Given the description of an element on the screen output the (x, y) to click on. 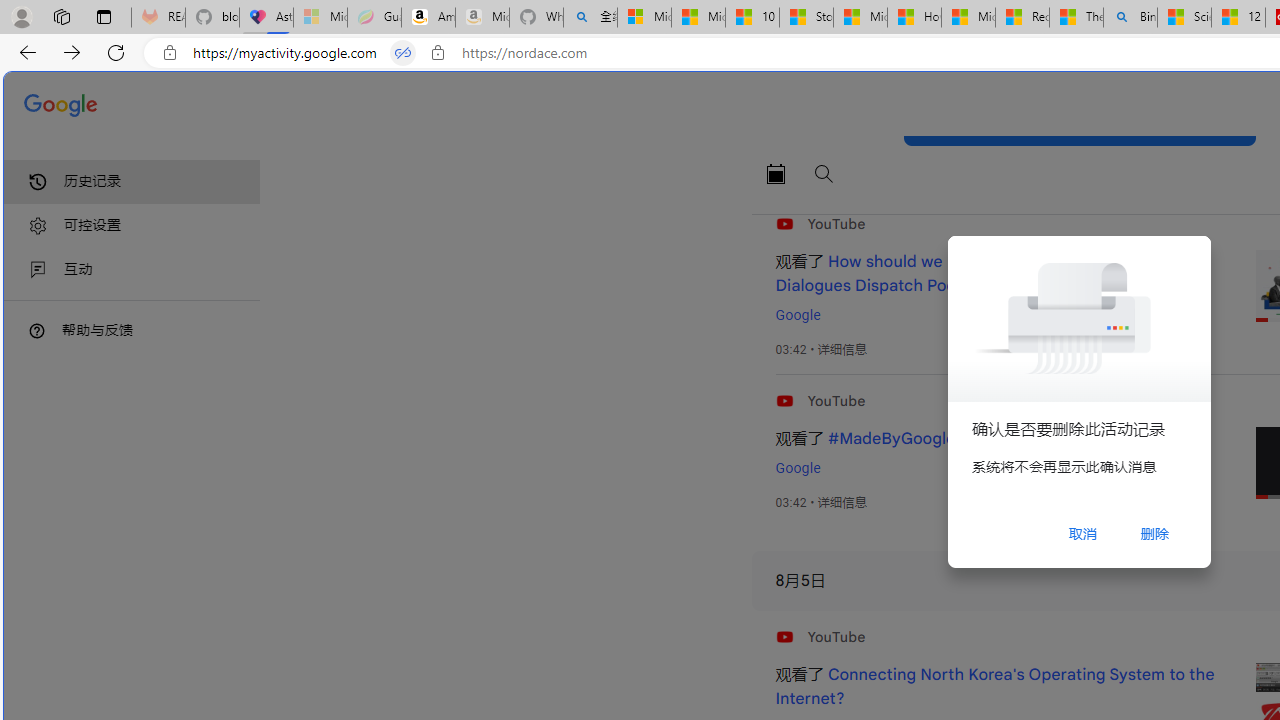
Class: DTiKkd NMm5M (37, 330)
